Given the description of an element on the screen output the (x, y) to click on. 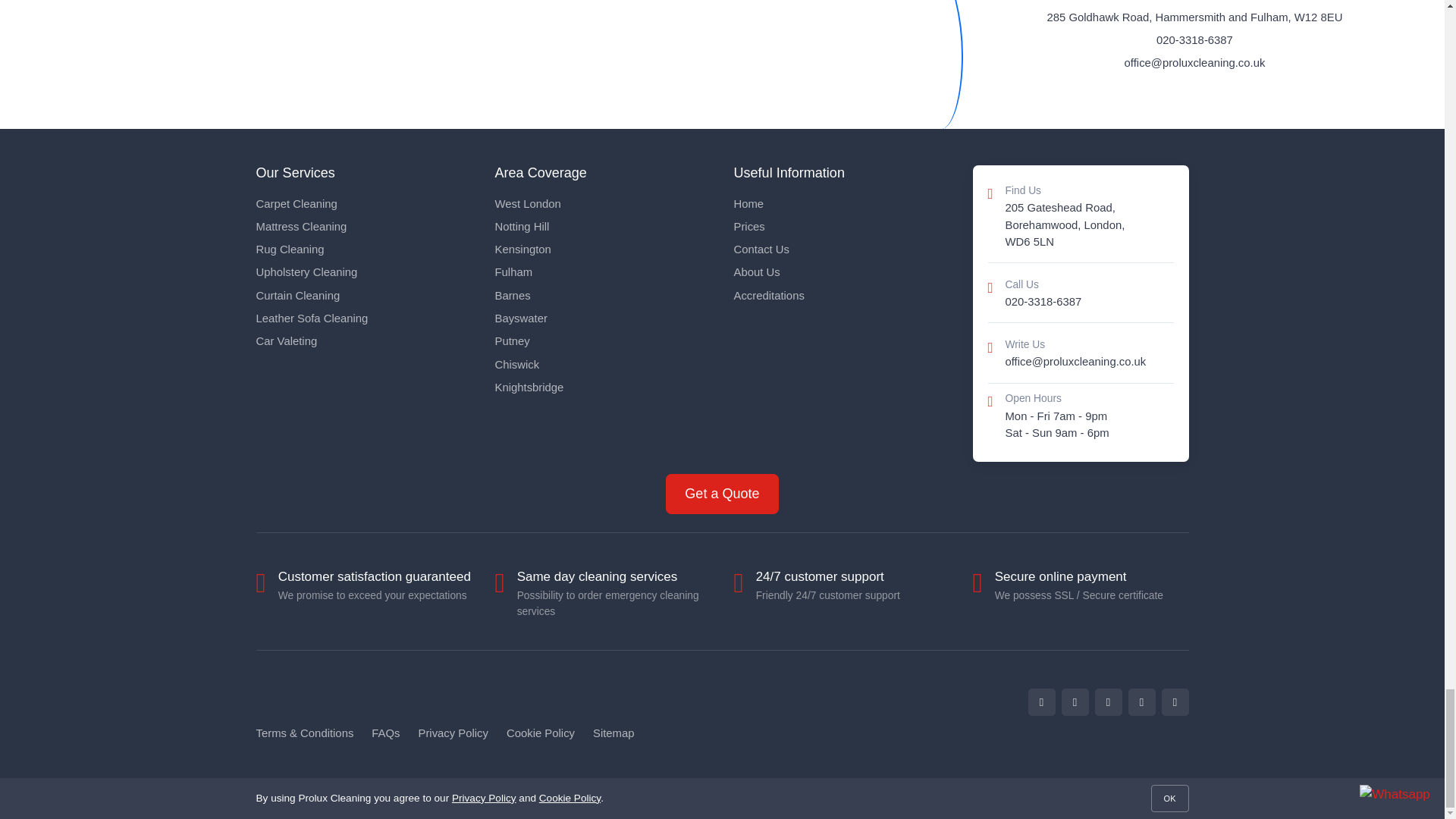
Mattress Cleaning (363, 226)
Upholstery Cleaning (363, 271)
Address Map (481, 64)
020-3318-6387 (1194, 39)
Car Valeting (363, 340)
Leather Sofa Cleaning (363, 318)
Curtain Cleaning (363, 295)
West London (602, 203)
Carpet Cleaning (363, 203)
Rug Cleaning (363, 248)
